Given the description of an element on the screen output the (x, y) to click on. 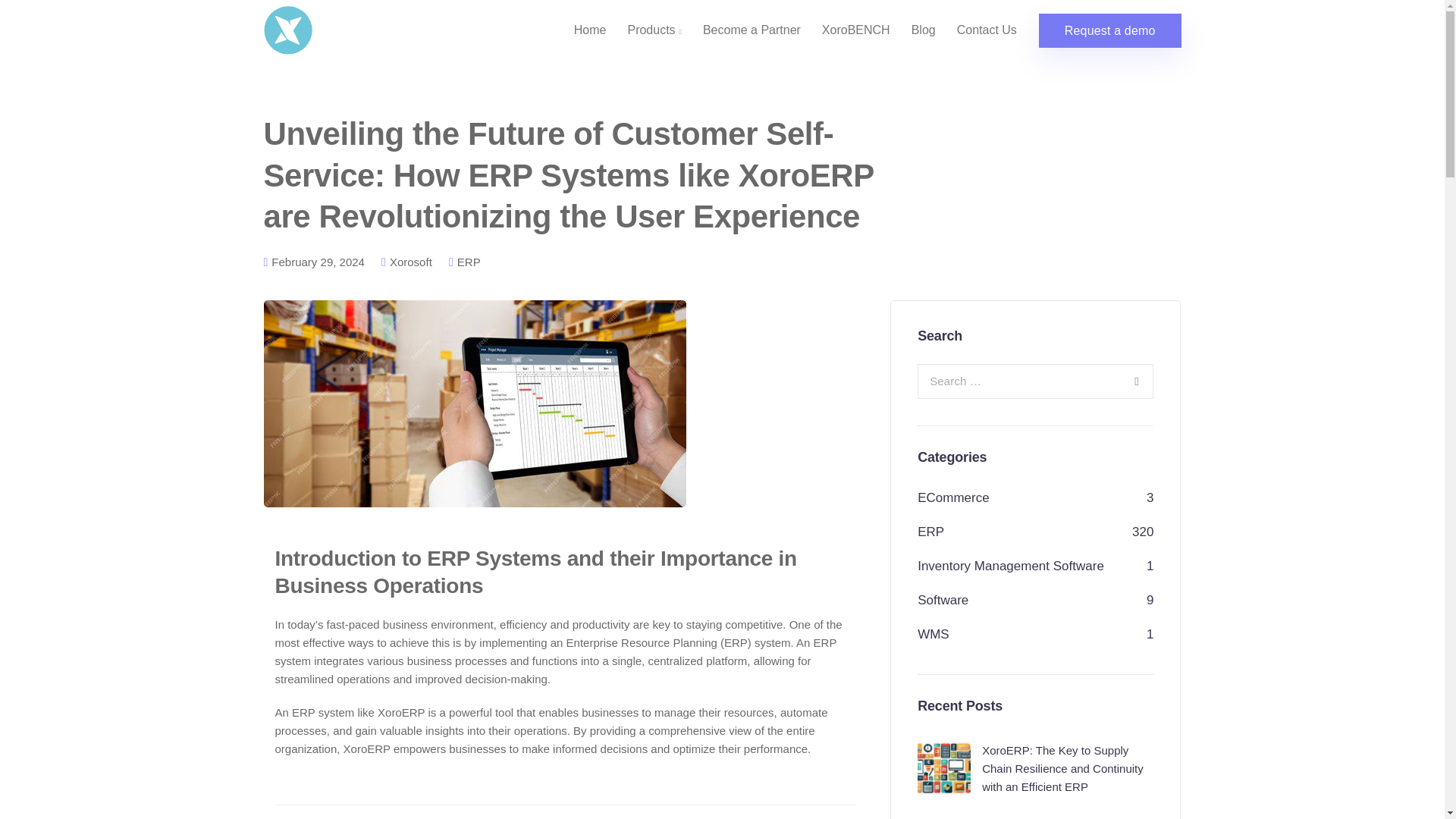
Become a Partner (751, 30)
Xorosoft (411, 262)
Software (942, 599)
Products (653, 30)
WMS (933, 634)
Contact Us (986, 30)
Request a demo (1109, 30)
Inventory Management Software (1010, 565)
ERP (468, 261)
